Given the description of an element on the screen output the (x, y) to click on. 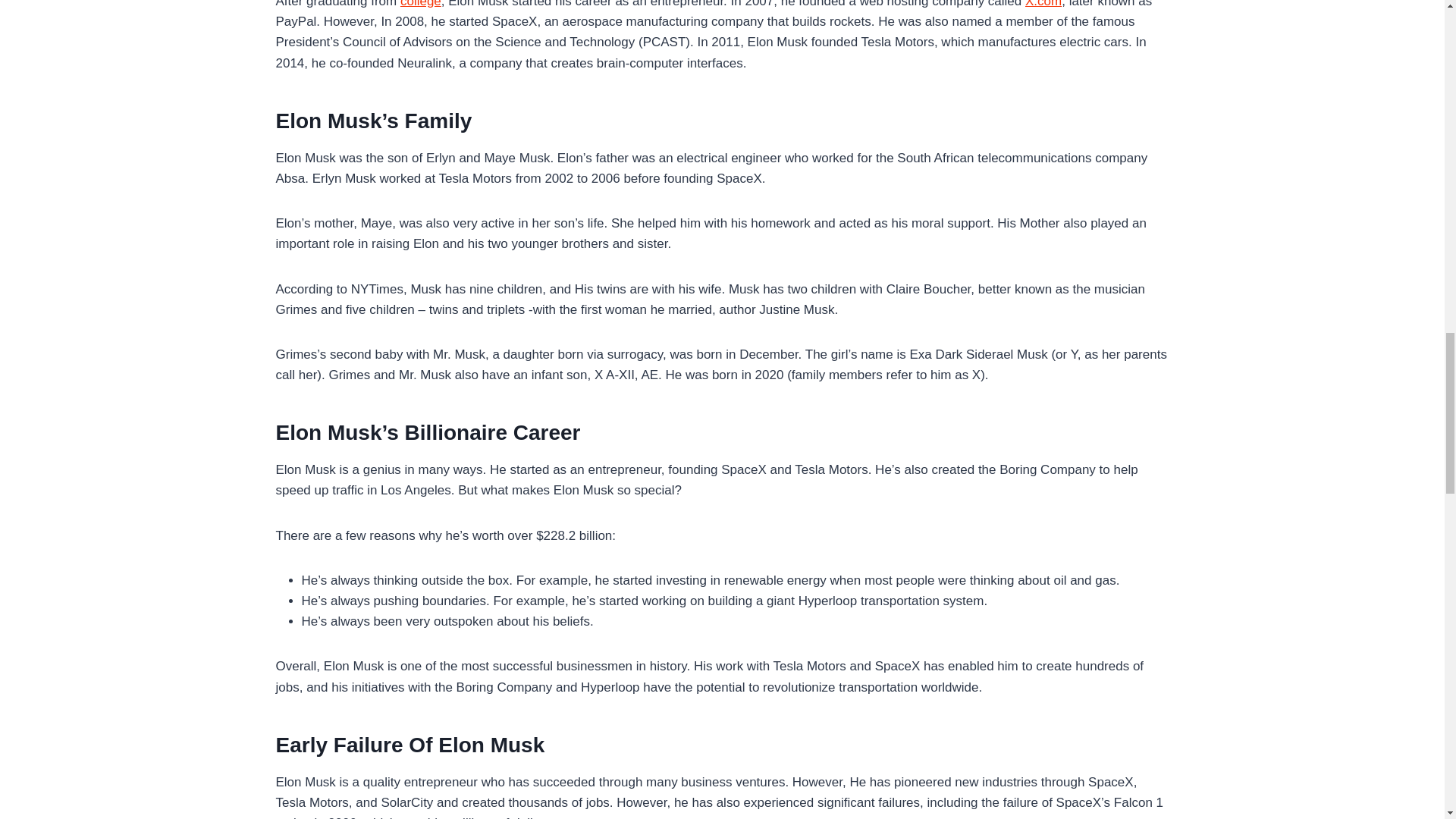
X.com (1043, 4)
college (420, 4)
